Given the description of an element on the screen output the (x, y) to click on. 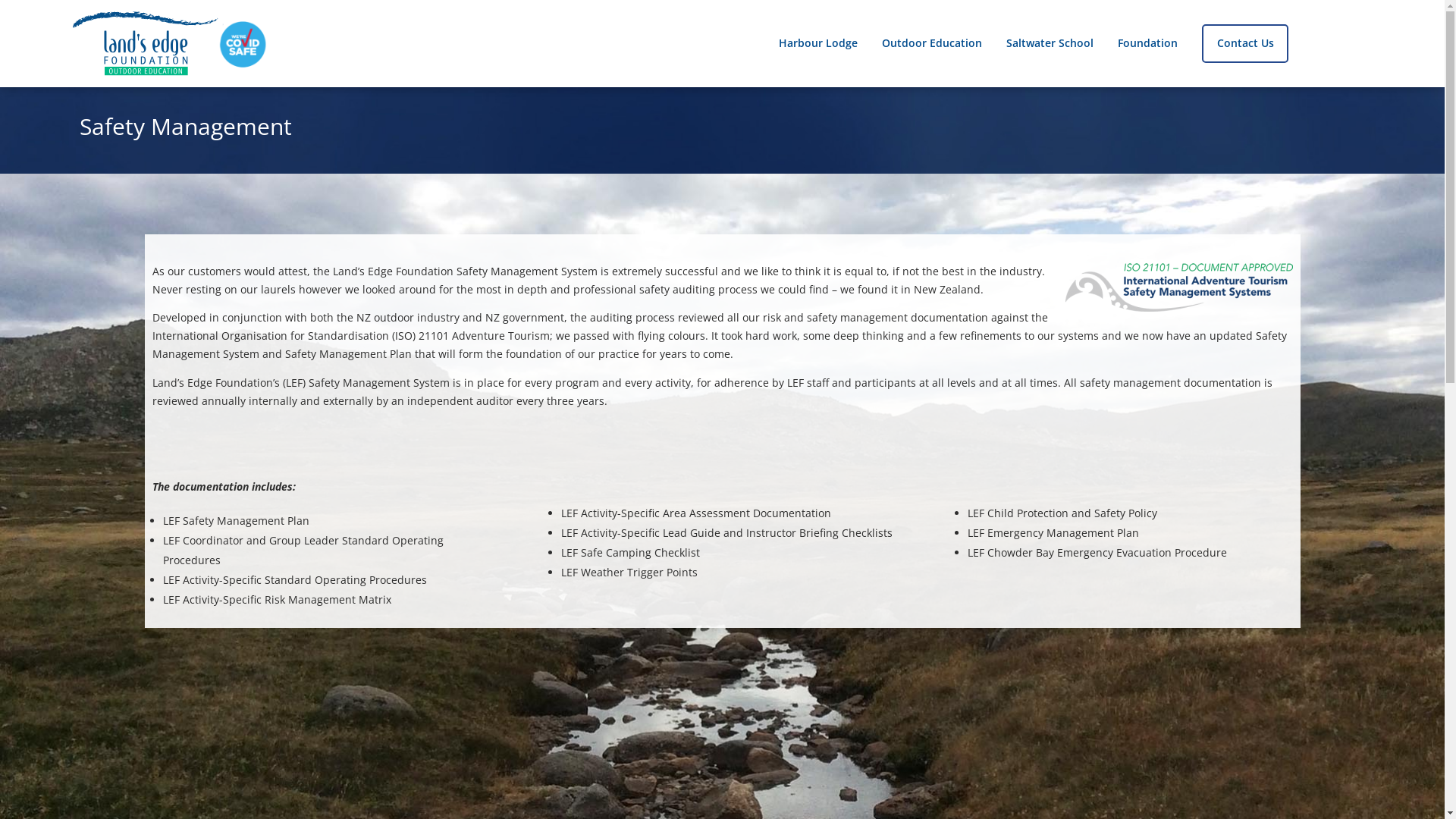
Outdoor Education Element type: text (931, 43)
Harbour Lodge Element type: text (817, 43)
Foundation Element type: text (1147, 43)
Contact Us Element type: text (1244, 43)
Saltwater School Element type: text (1049, 43)
